Given the description of an element on the screen output the (x, y) to click on. 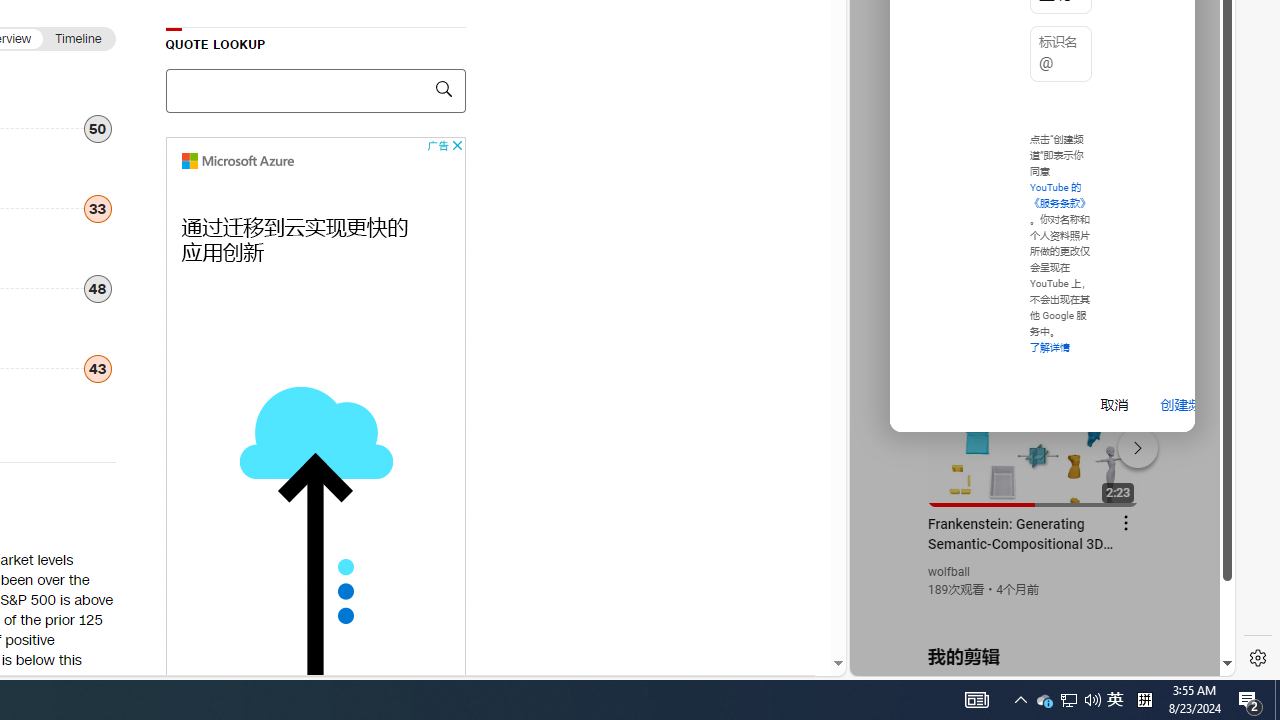
you (1034, 609)
Global web icon (888, 432)
YouTube (1034, 432)
US[ju] (917, 660)
Class: icon-ui-search (443, 88)
Actions for this site (1131, 443)
AutomationID: cbb (456, 145)
